Given the description of an element on the screen output the (x, y) to click on. 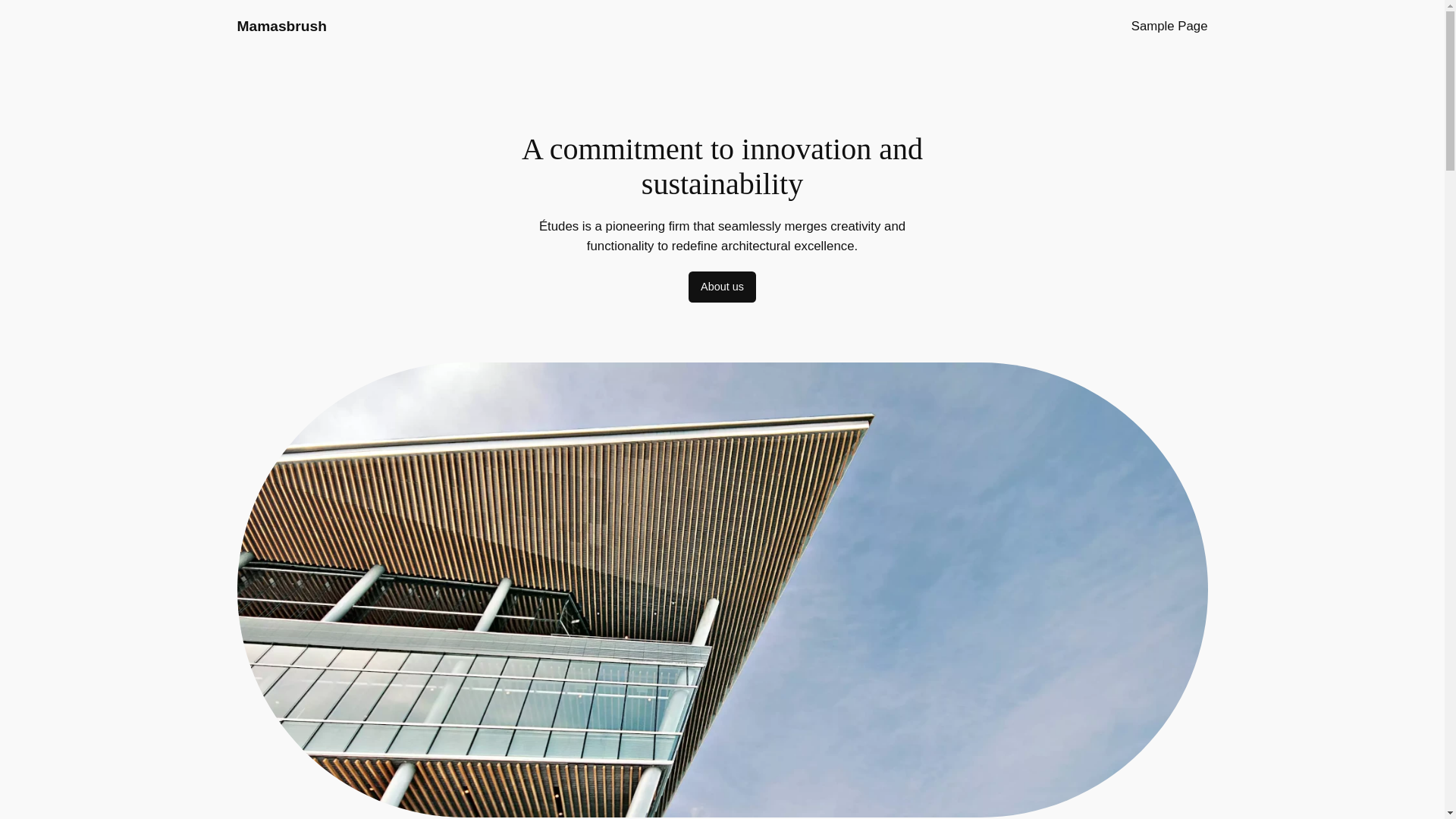
Mamasbrush (280, 26)
Sample Page (1169, 26)
About us (721, 287)
